Given the description of an element on the screen output the (x, y) to click on. 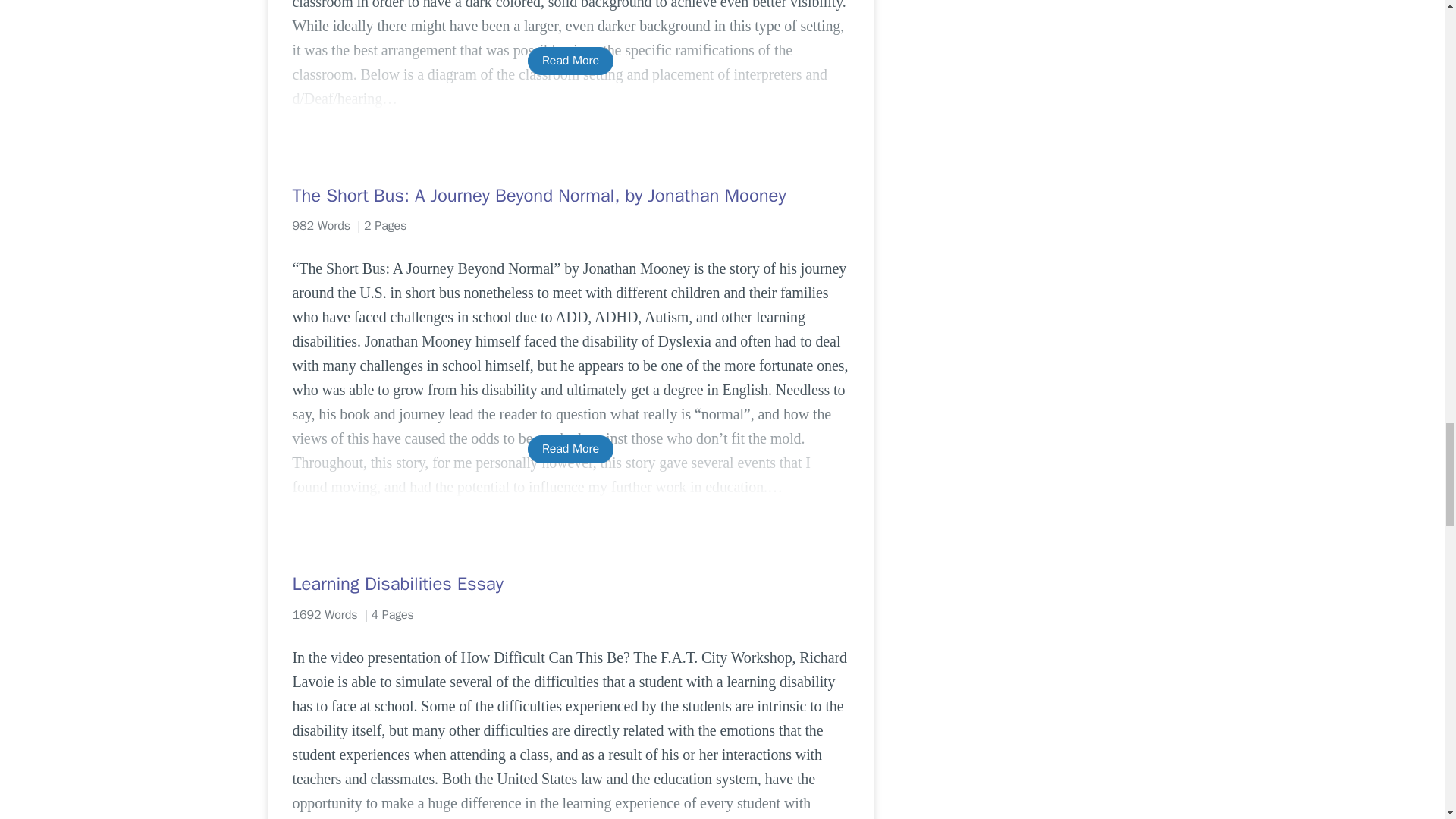
Learning Disabilities Essay (570, 583)
Read More (569, 448)
The Short Bus: A Journey Beyond Normal, by Jonathan Mooney (570, 195)
Read More (569, 60)
